Given the description of an element on the screen output the (x, y) to click on. 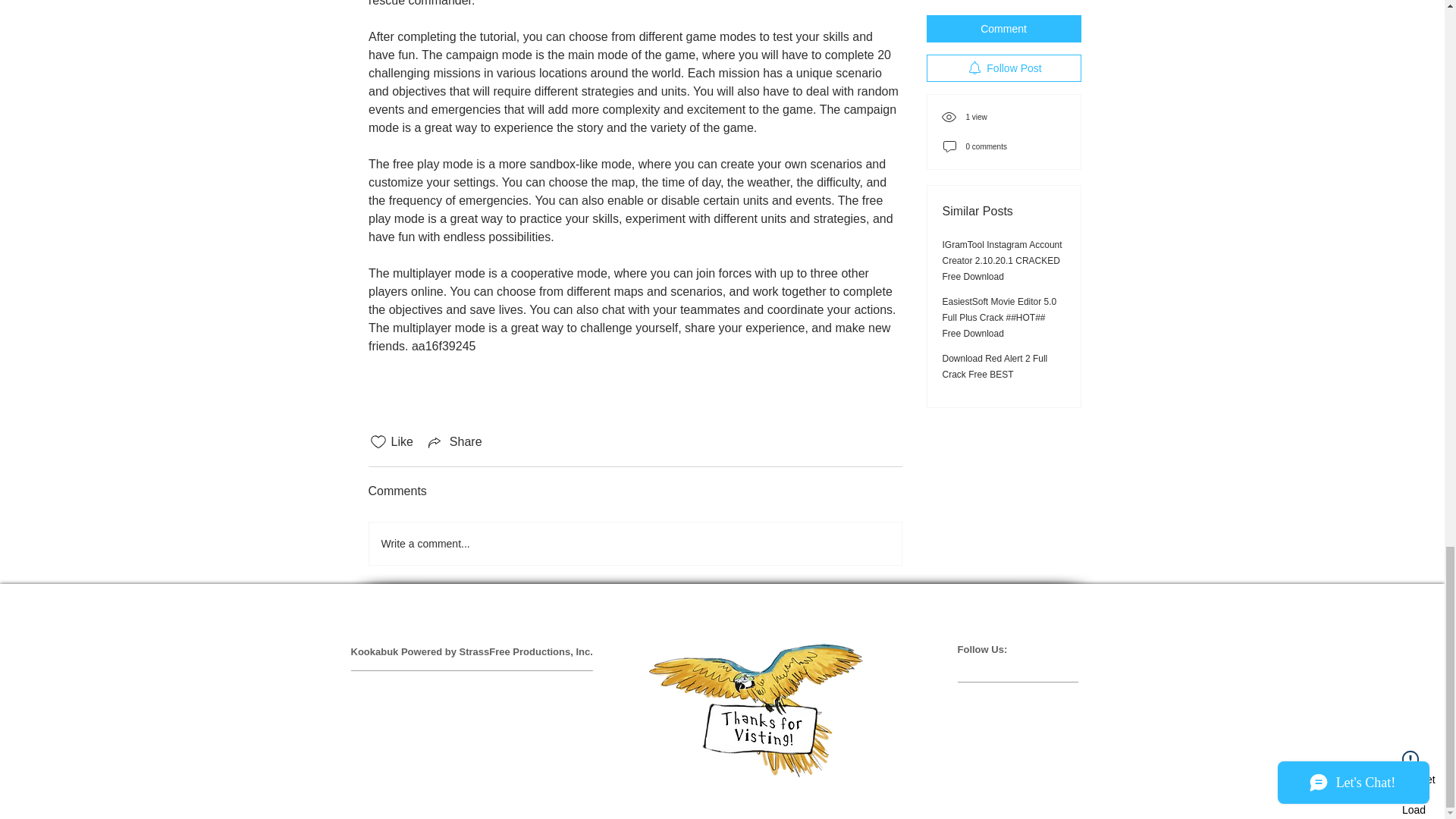
Write a comment... (634, 543)
Share (453, 442)
